Given the description of an element on the screen output the (x, y) to click on. 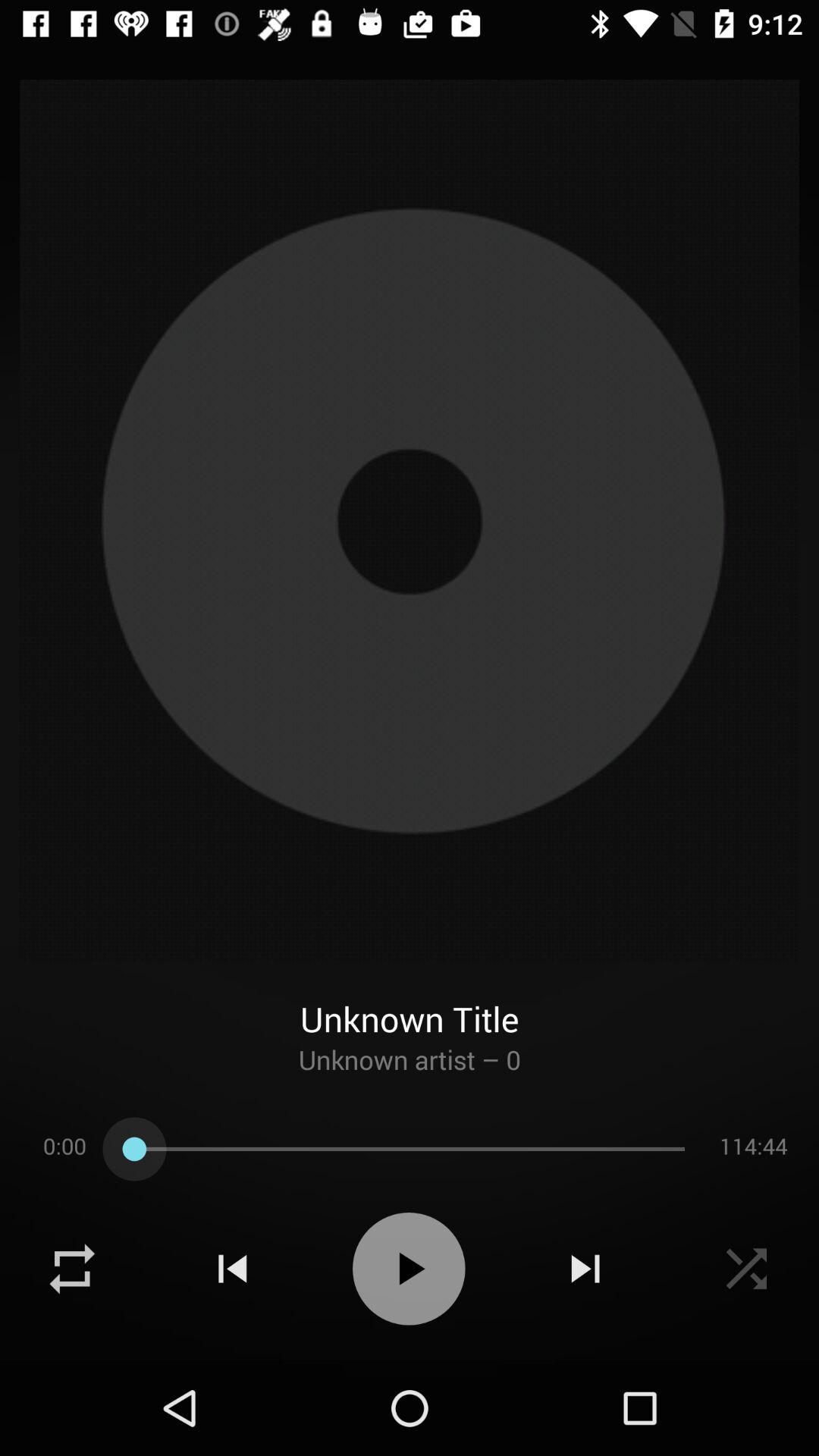
skip to the next song (585, 1268)
